Given the description of an element on the screen output the (x, y) to click on. 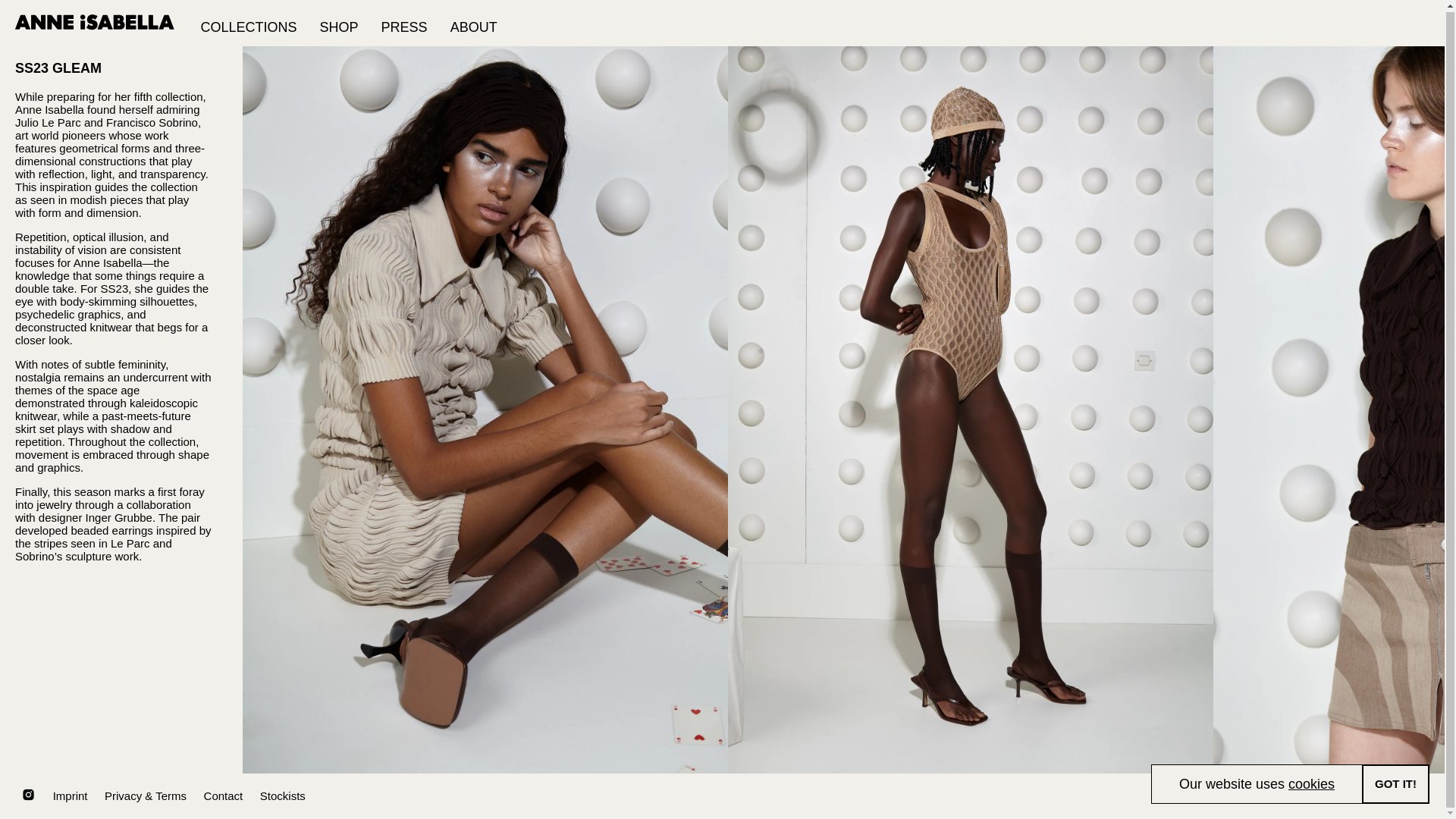
Imprint (69, 795)
ABOUT (473, 22)
cookies (1311, 783)
Contact (223, 795)
SHOP (338, 22)
Stockists (282, 795)
COLLECTIONS (248, 22)
PRESS (404, 22)
